Given the description of an element on the screen output the (x, y) to click on. 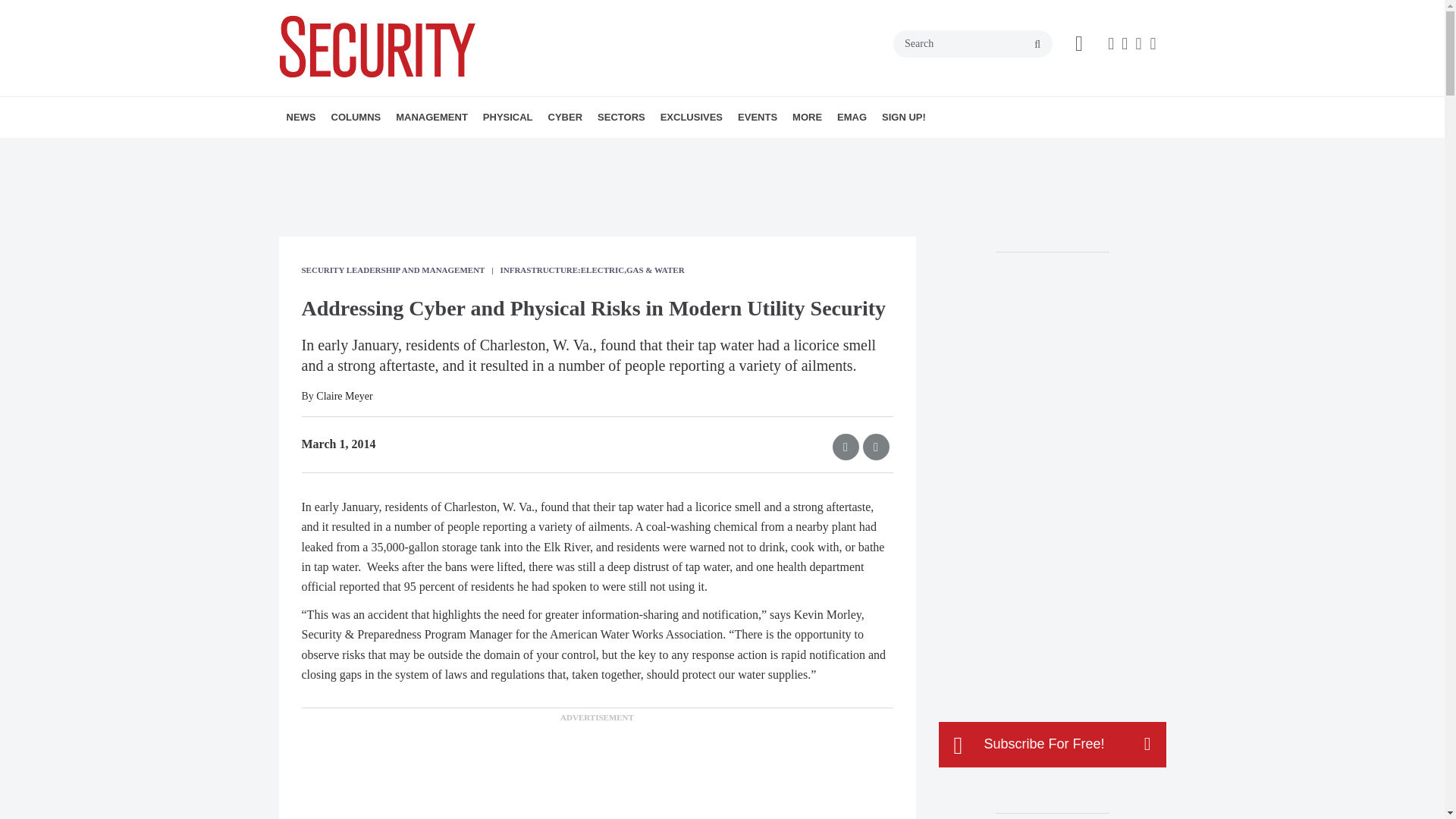
CYBER TACTICS (417, 150)
SECURITY TALK (430, 150)
SECURITY BLOG (386, 150)
Search (972, 43)
search (1037, 44)
MANAGEMENT (432, 117)
LEADERSHIP MANAGEMENT (483, 150)
ENTERPRISE SERVICES (490, 150)
PHYSICAL (508, 117)
LEADER TO LEADER (442, 150)
MORE (589, 150)
MORE (641, 150)
NEWS (301, 117)
SECURITY NEWSWIRE (373, 150)
IDENTITY MANAGEMENT (583, 150)
